Given the description of an element on the screen output the (x, y) to click on. 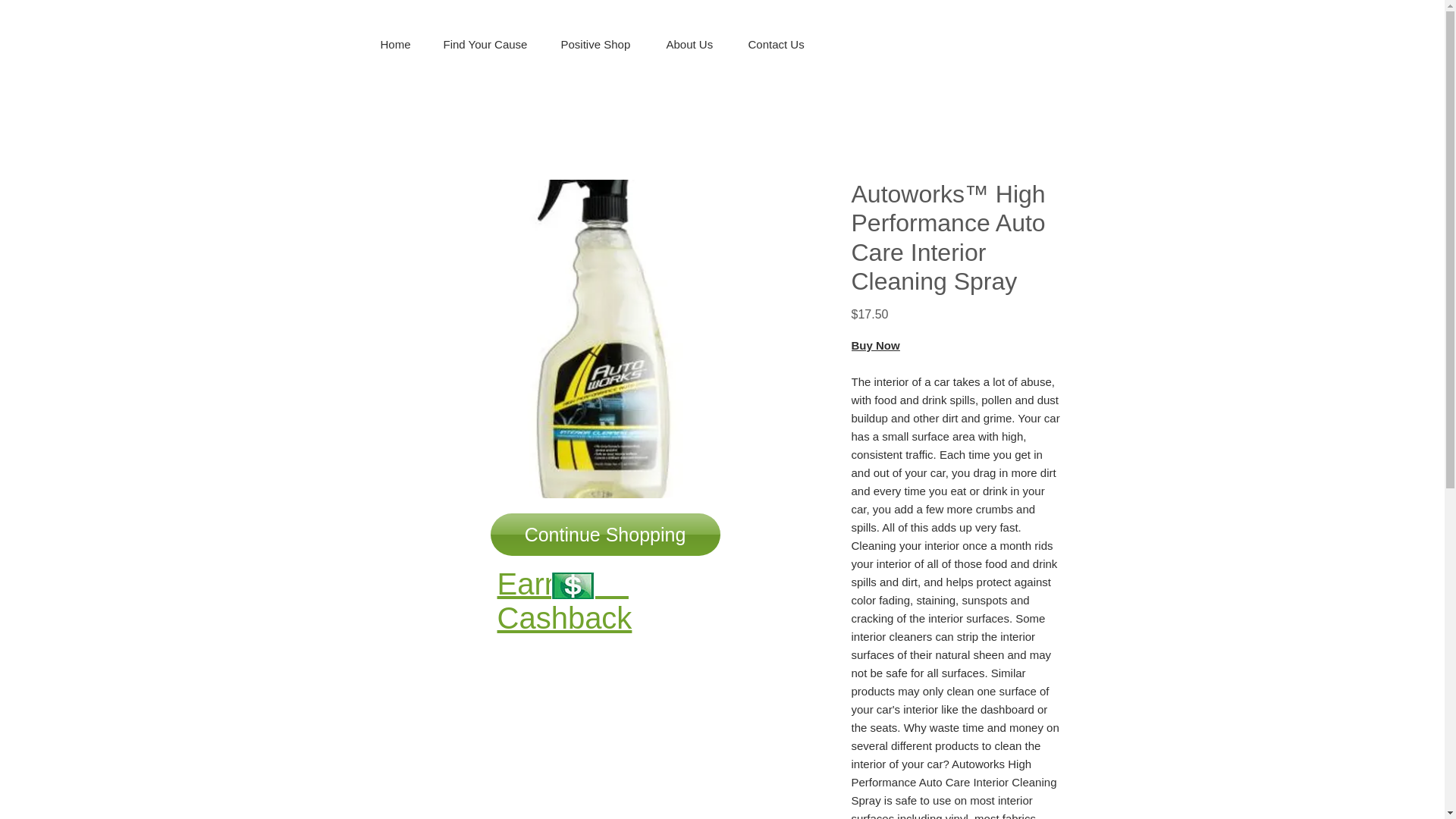
About Us (691, 44)
Home (395, 44)
Continue Shopping (604, 534)
Contact Us (778, 44)
Positive Shop (596, 44)
Buy Now (874, 345)
Earn         Cashback (564, 600)
Find Your Cause (486, 44)
